Given the description of an element on the screen output the (x, y) to click on. 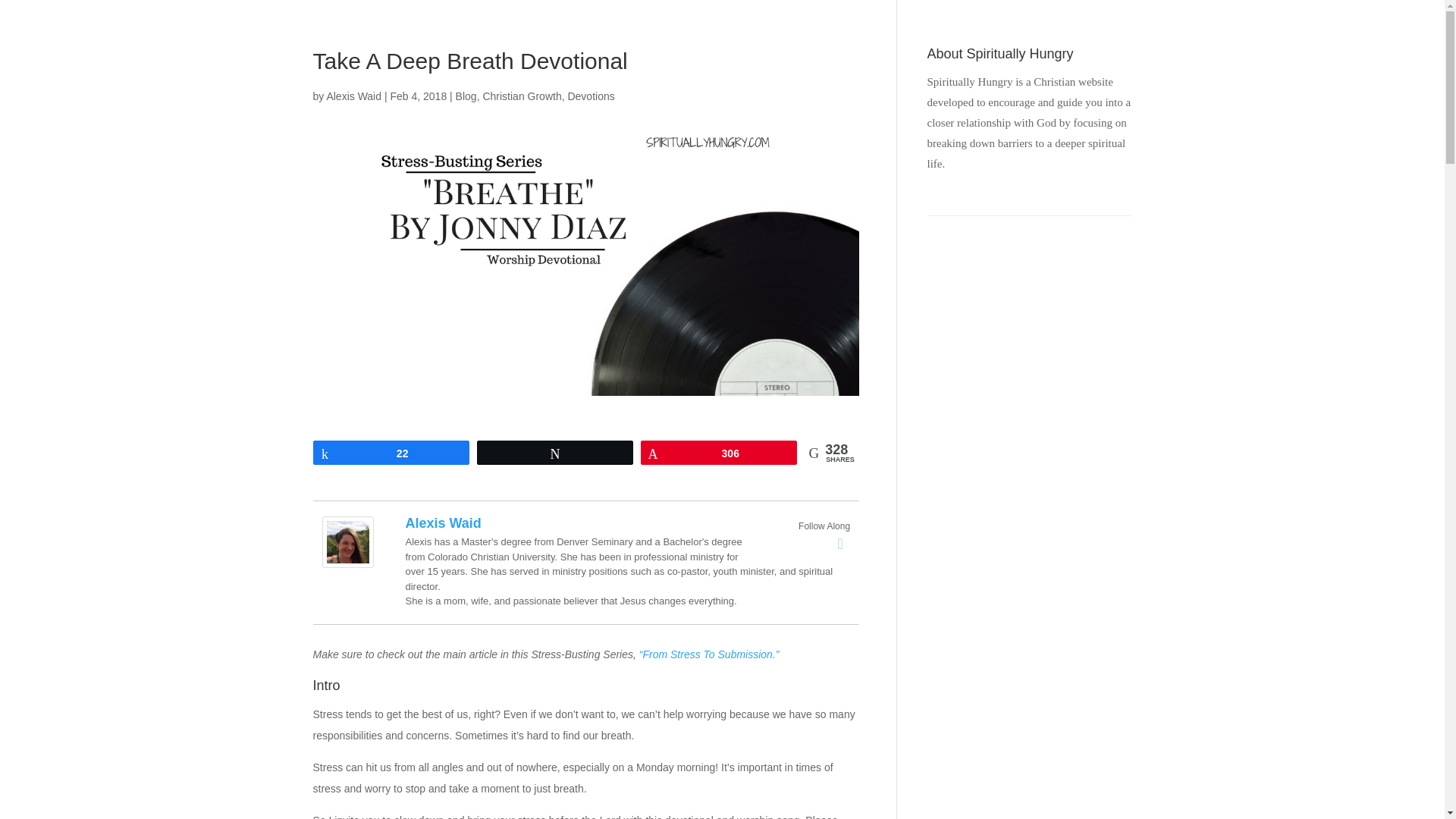
Blog (466, 96)
Alexis Waid (442, 522)
Alexis Waid (346, 557)
Posts by Alexis Waid (353, 96)
Alexis Waid (353, 96)
Facebook (839, 543)
306 (719, 452)
22 (391, 452)
Christian Growth (520, 96)
Devotions (590, 96)
